Given the description of an element on the screen output the (x, y) to click on. 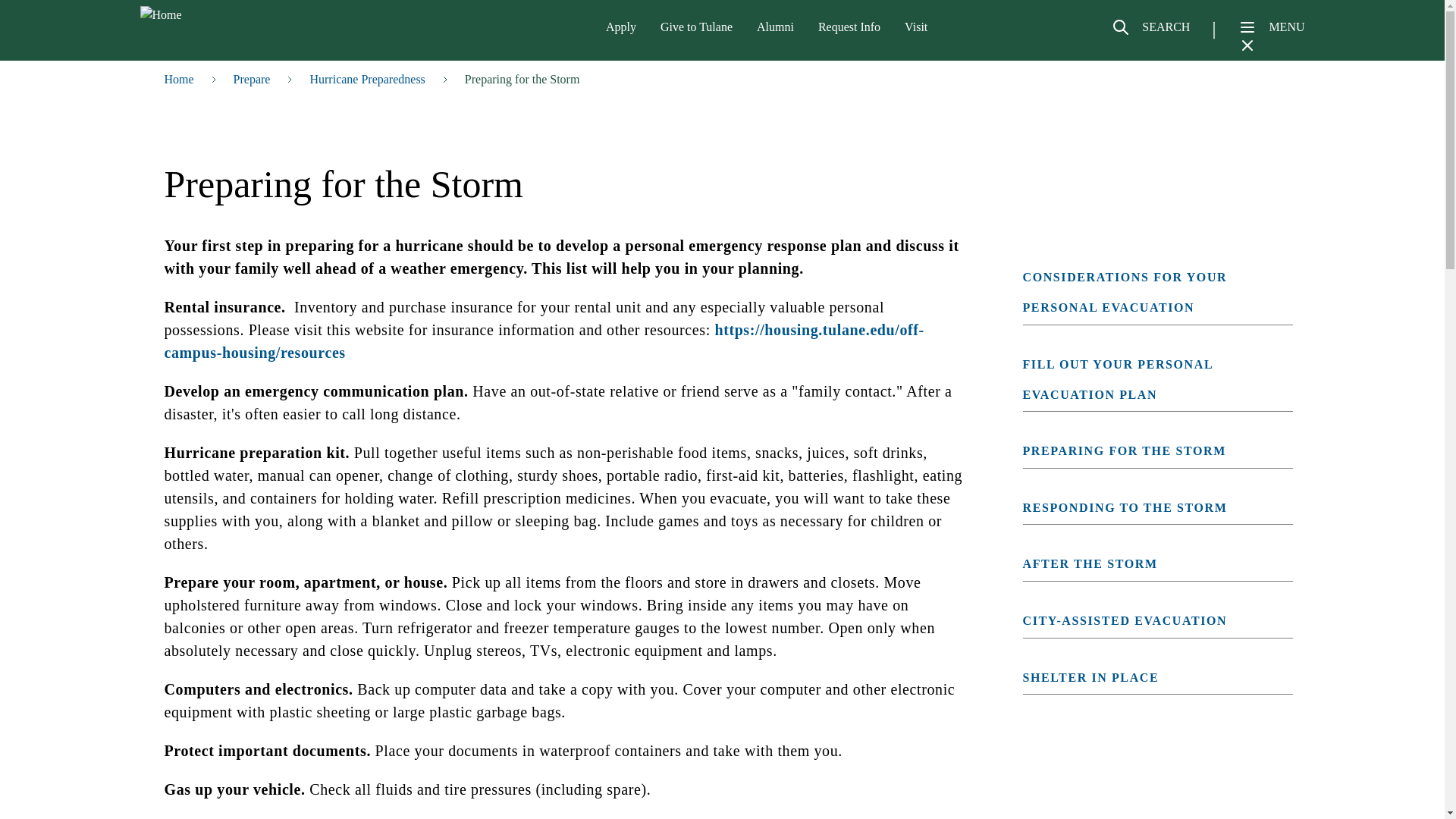
Visit (915, 26)
Home (218, 14)
Apply (620, 26)
SEARCH (1150, 33)
Alumni (775, 26)
Request Info (849, 26)
Give to Tulane (696, 26)
